Given the description of an element on the screen output the (x, y) to click on. 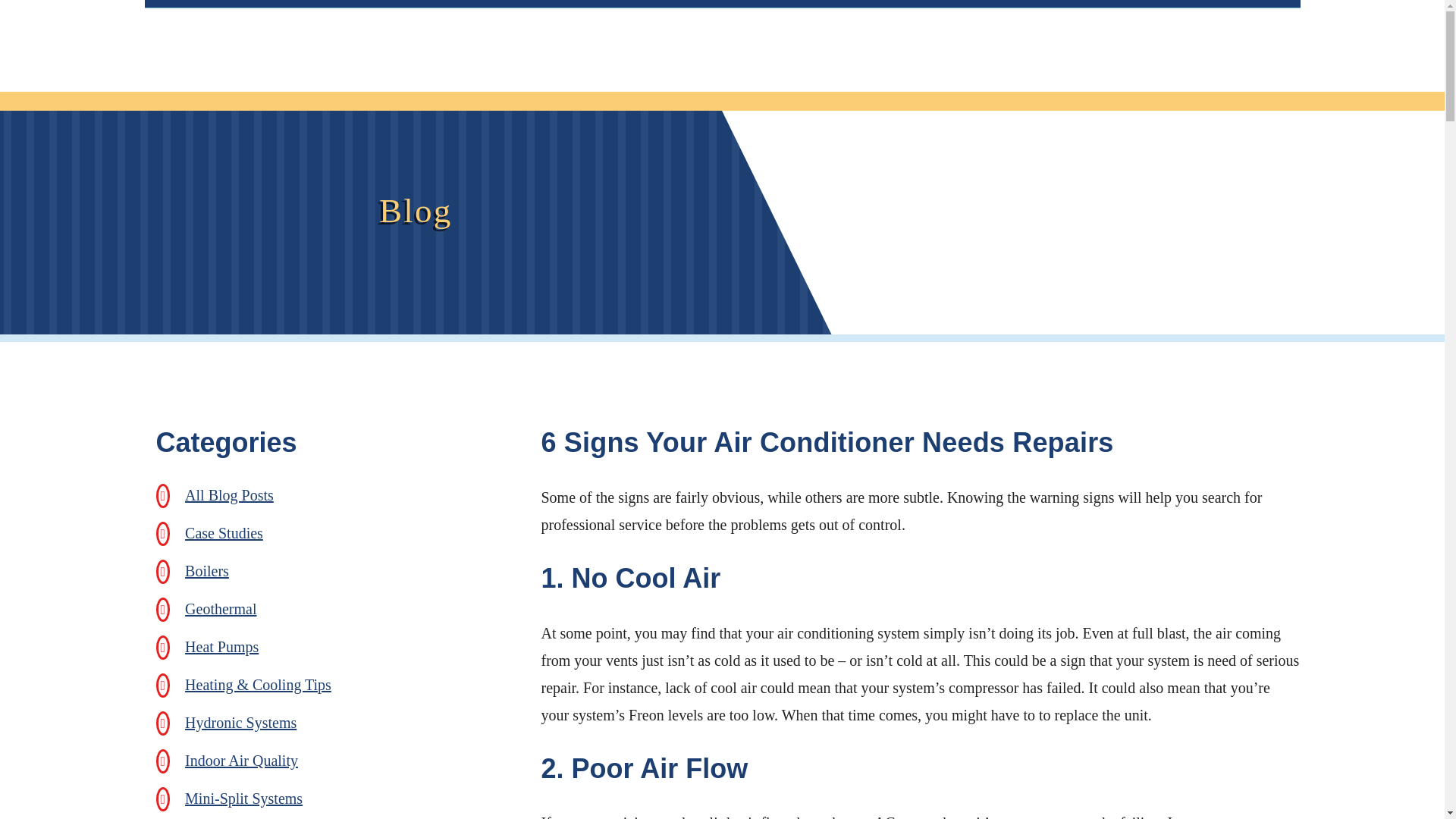
Heat Pumps (221, 646)
Boilers (206, 570)
Indoor Air Quality (241, 760)
Geothermal (220, 608)
Hydronic Systems (240, 722)
All Blog Posts (228, 494)
Mini-Split Systems (243, 798)
Case Studies (223, 532)
